Given the description of an element on the screen output the (x, y) to click on. 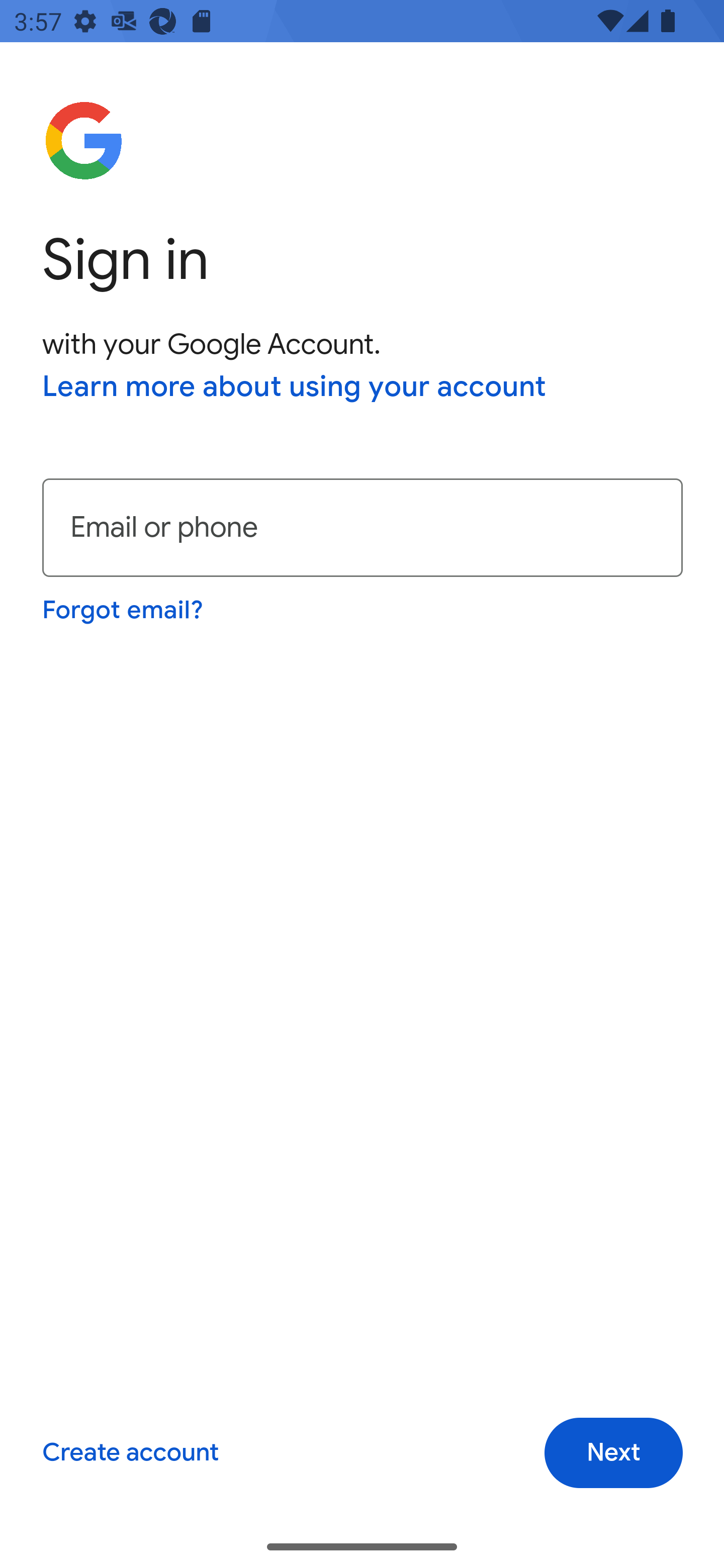
Learn more about using your account (294, 388)
Forgot email? (123, 609)
Next (613, 1453)
Create account (129, 1453)
